Given the description of an element on the screen output the (x, y) to click on. 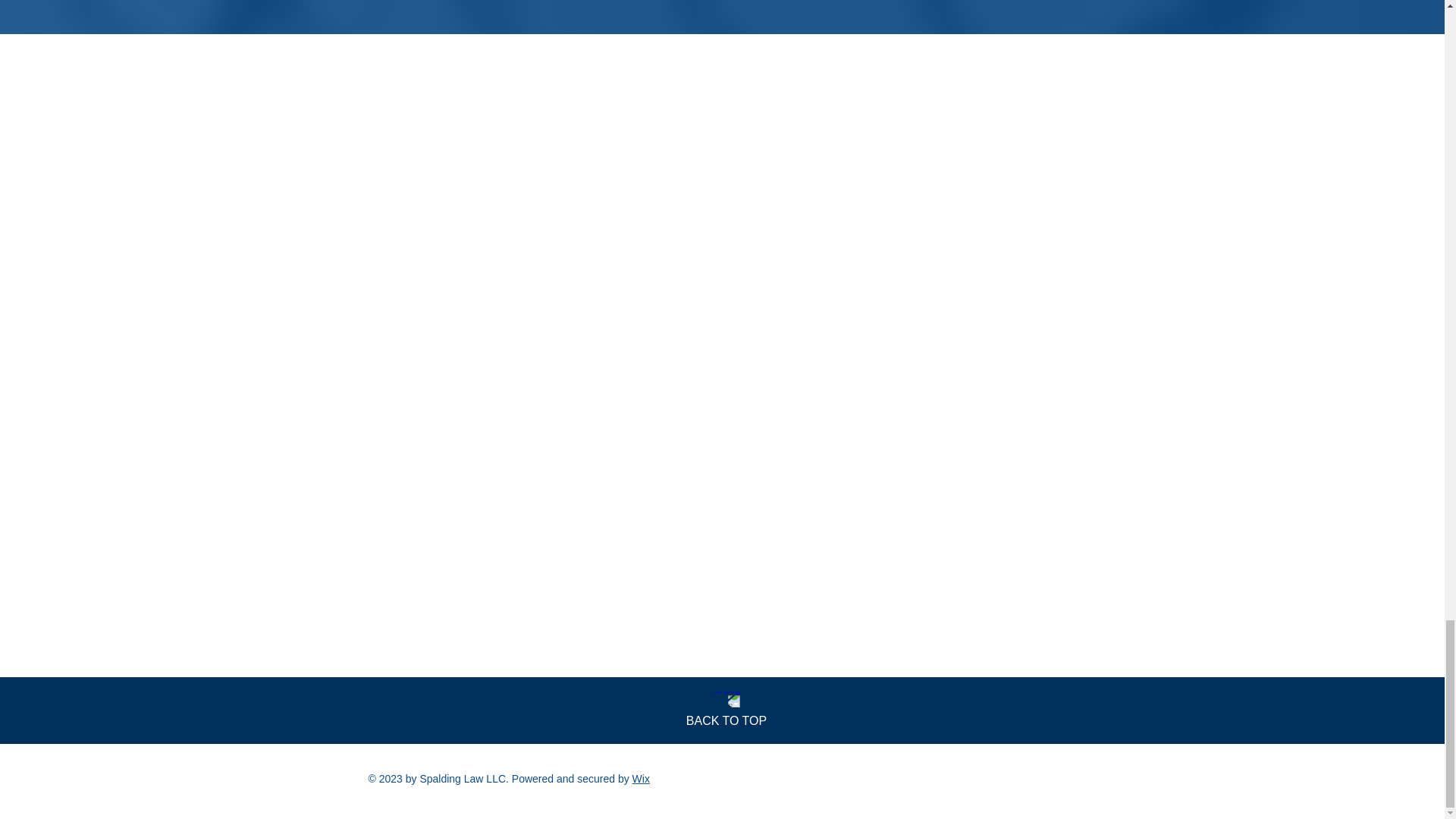
Wix (640, 778)
